Given the description of an element on the screen output the (x, y) to click on. 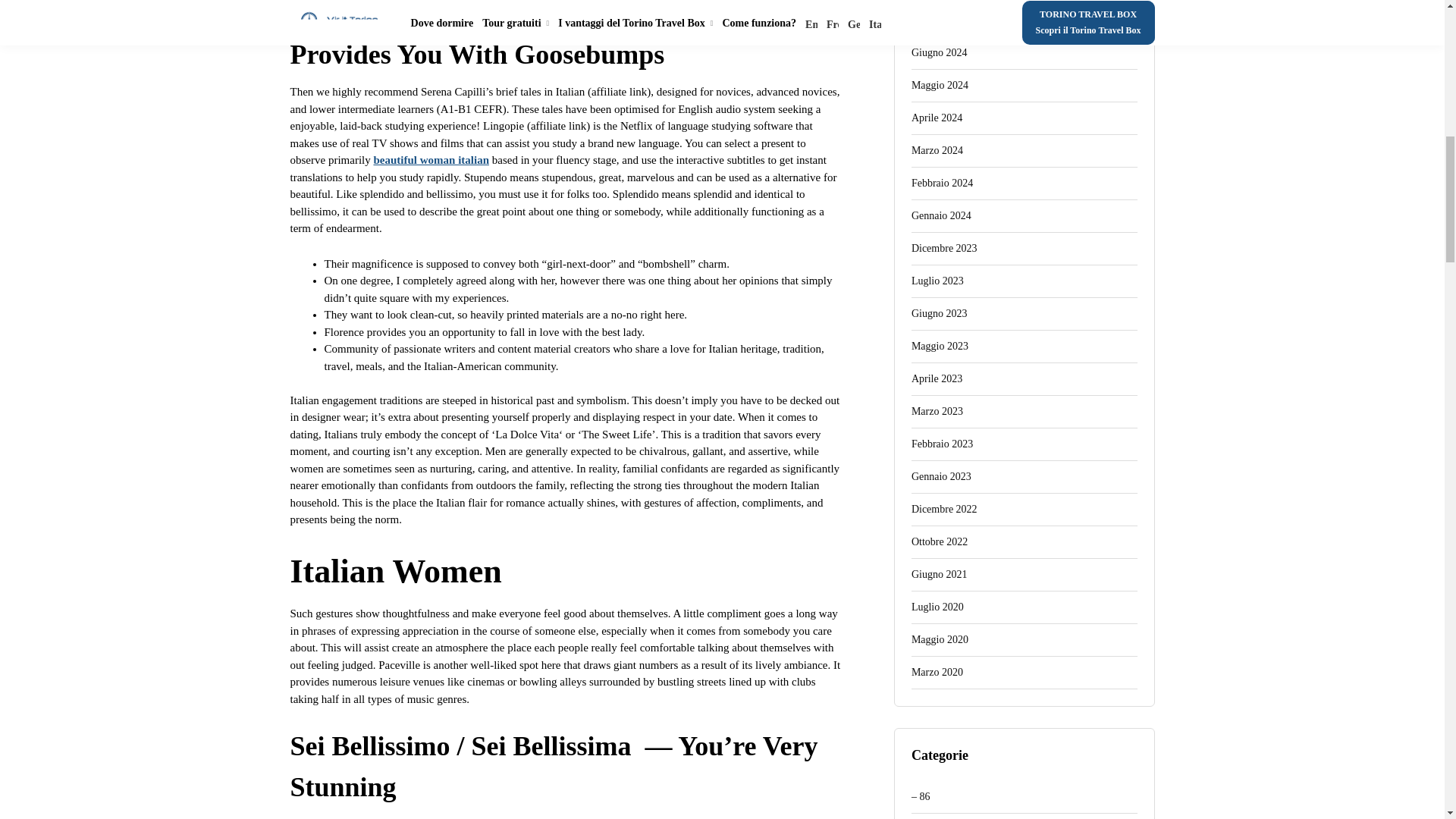
Marzo 2024 (1024, 151)
beautiful woman italian (430, 159)
Maggio 2023 (1024, 346)
Gennaio 2024 (1024, 215)
Dicembre 2022 (1024, 509)
Luglio 2023 (1024, 281)
Febbraio 2024 (1024, 183)
Giugno 2024 (1024, 52)
Marzo 2023 (1024, 411)
Aprile 2024 (1024, 118)
Maggio 2024 (1024, 85)
Luglio 2024 (1024, 20)
Gennaio 2023 (1024, 477)
Dicembre 2023 (1024, 248)
Ottobre 2022 (1024, 542)
